Given the description of an element on the screen output the (x, y) to click on. 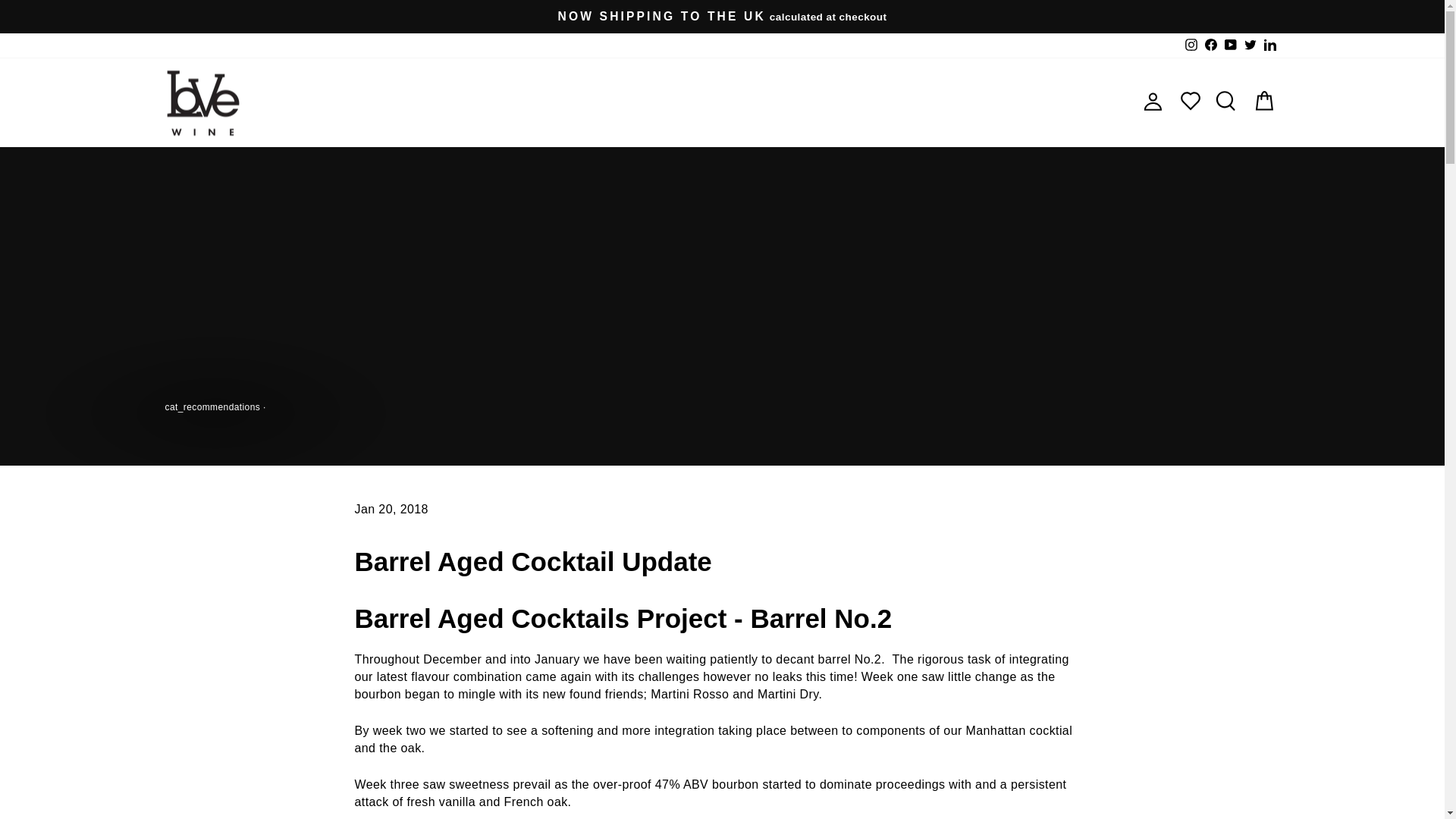
Love Wine on Instagram (1190, 45)
Love Wine on Facebook (1211, 45)
Love Wine on LinkedIn (1269, 45)
Love Wine on Twitter (1250, 45)
Love Wine on YouTube (1230, 45)
